Given the description of an element on the screen output the (x, y) to click on. 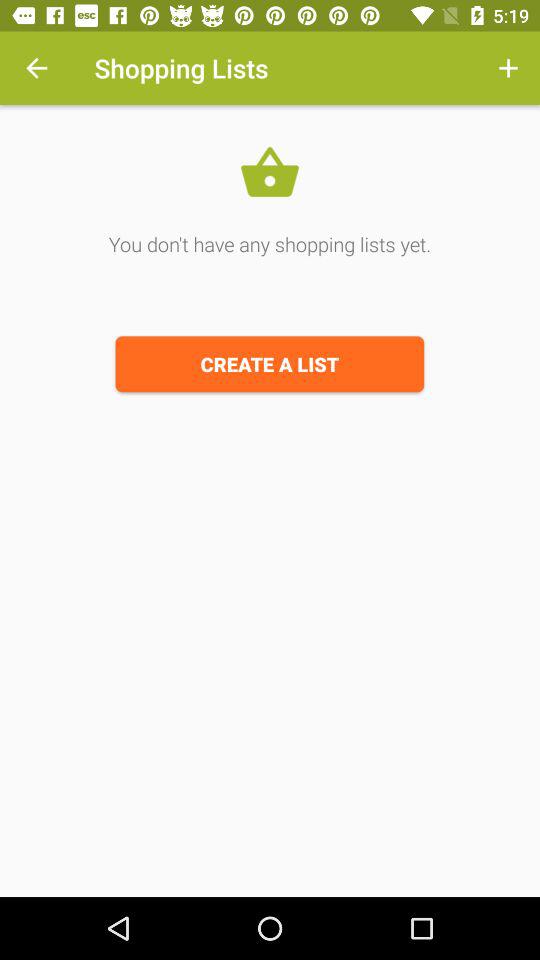
turn on the item at the top left corner (36, 68)
